Given the description of an element on the screen output the (x, y) to click on. 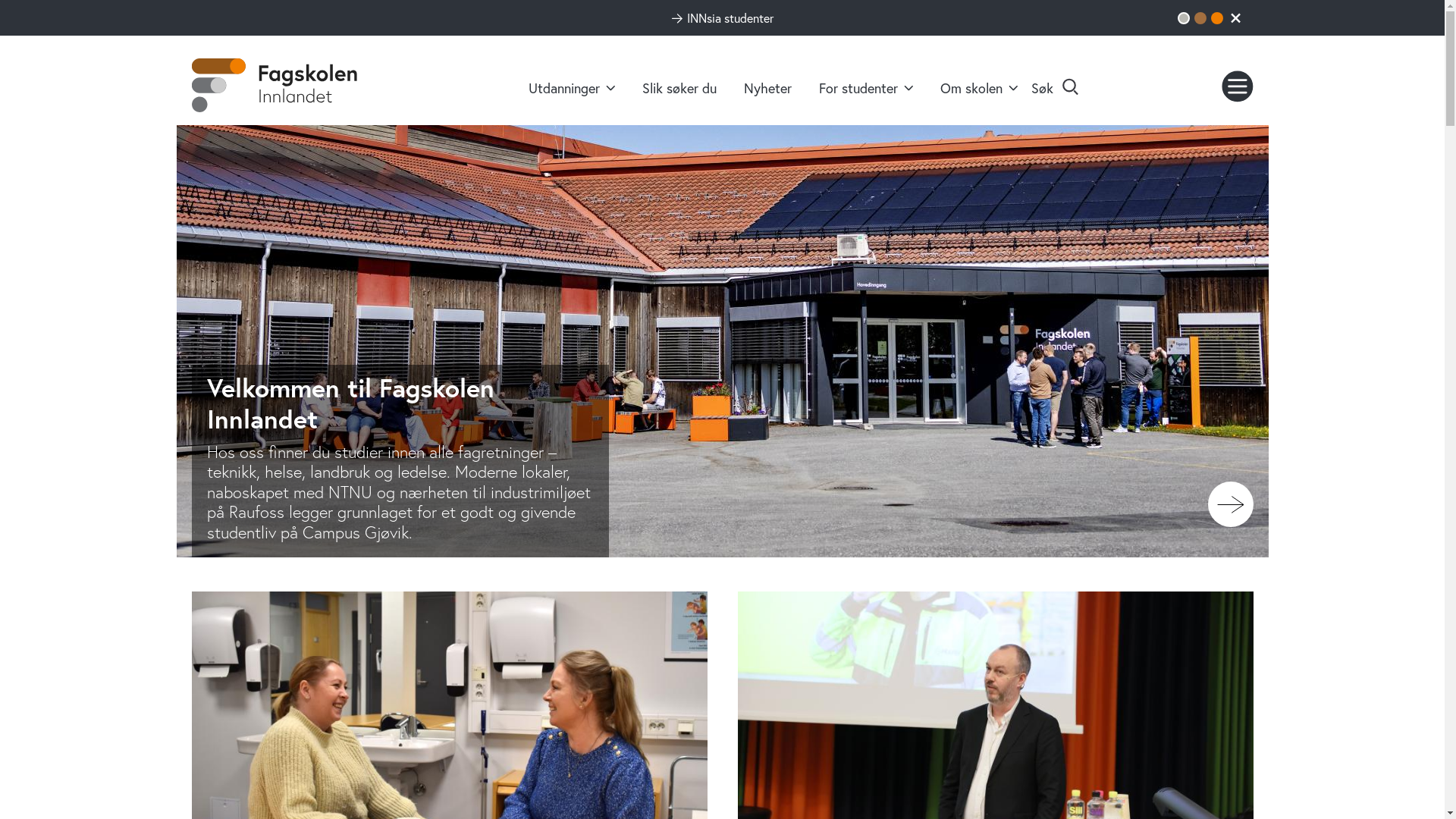
Om skolen Element type: text (978, 87)
Lukk Element type: text (1234, 17)
Nyheter Element type: text (767, 87)
2 Element type: text (1199, 18)
INNsia studenter Element type: text (722, 18)
For studenter Element type: text (866, 87)
Velkommen til Fagskolen Innlandet Element type: text (399, 403)
Utdanninger Element type: text (571, 87)
Hopp til hovedinnhold Element type: text (0, 0)
Les mer Element type: text (1229, 504)
1 Element type: text (1182, 18)
3 Element type: text (1216, 18)
